Given the description of an element on the screen output the (x, y) to click on. 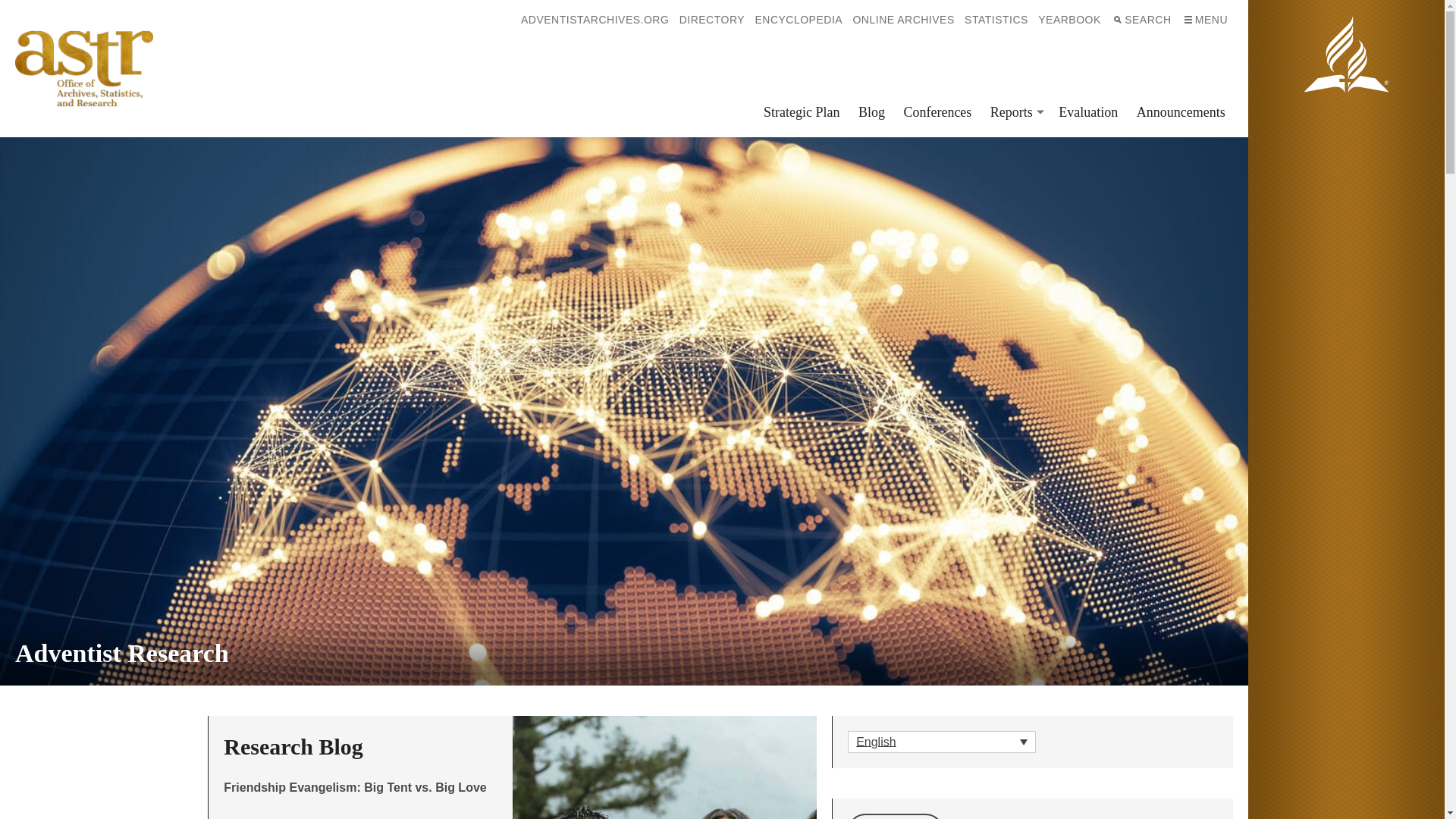
Evaluation (1088, 112)
Announcements (1181, 112)
ENCYCLOPEDIA (798, 19)
ADVENTISTARCHIVES.ORG (594, 19)
Conferences (936, 112)
SEARCH (1140, 19)
YEARBOOK (1069, 19)
Strategic Plan (801, 112)
MENU (1204, 19)
DIRECTORY (711, 19)
